Given the description of an element on the screen output the (x, y) to click on. 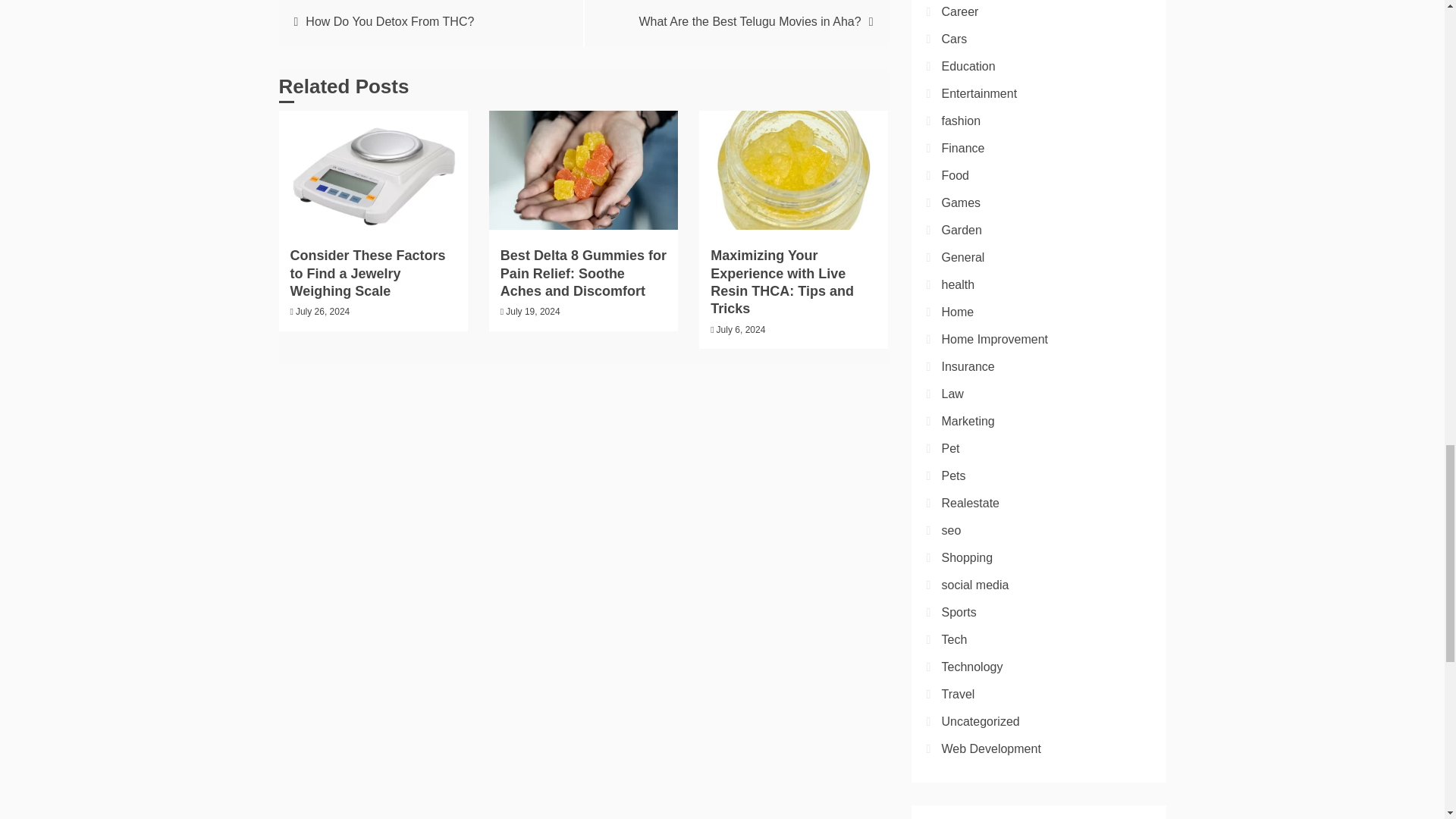
Consider These Factors to Find a Jewelry Weighing Scale (367, 273)
July 26, 2024 (322, 311)
July 19, 2024 (532, 311)
July 6, 2024 (740, 329)
What Are the Best Telugu Movies in Aha? (749, 21)
How Do You Detox From THC? (389, 21)
